Given the description of an element on the screen output the (x, y) to click on. 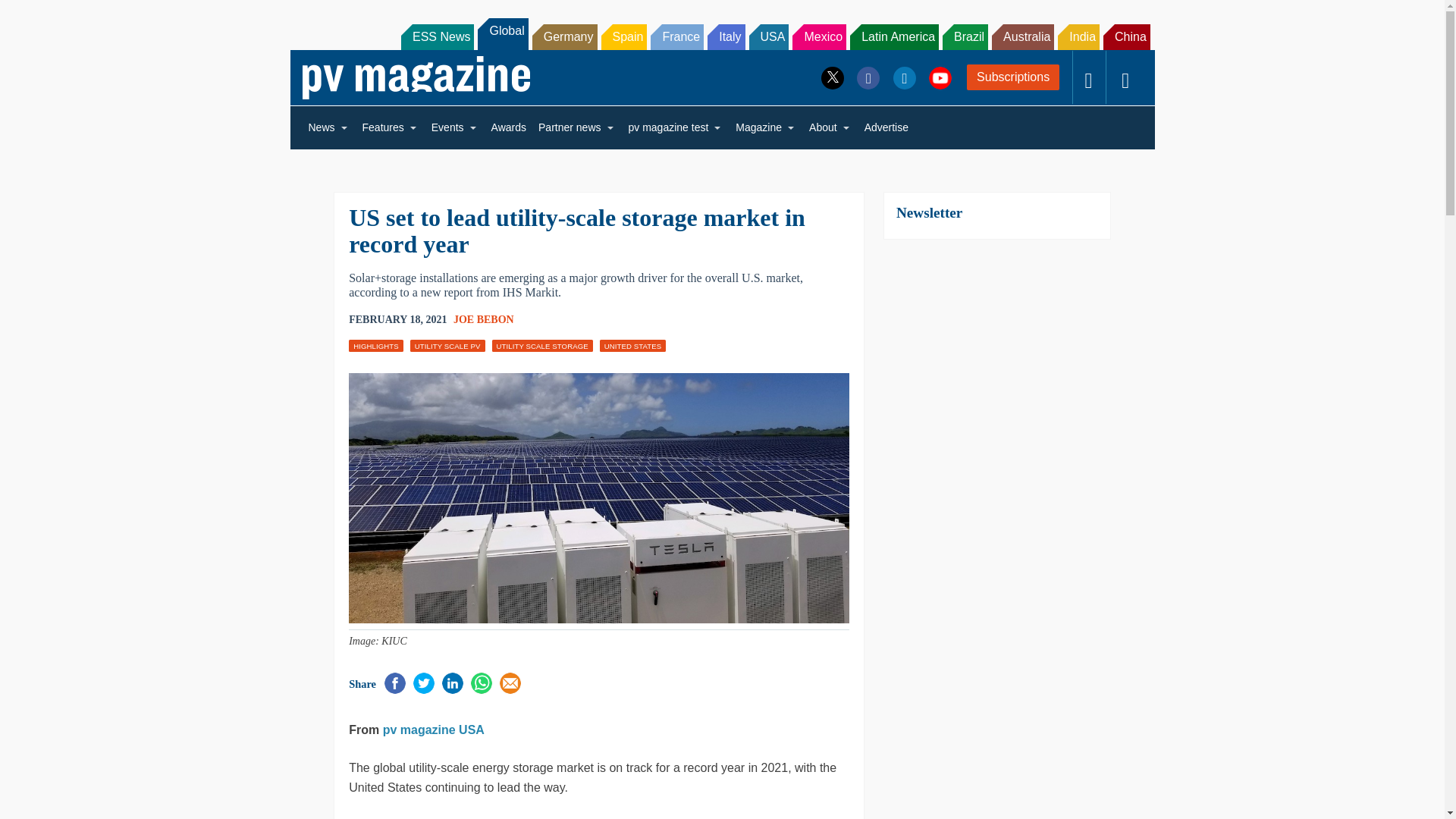
Latin America (894, 36)
Brazil (965, 36)
Search (32, 15)
Thursday, February 18, 2021, 6:58 am (397, 320)
Germany (564, 36)
France (676, 36)
Australia (1022, 36)
Italy (725, 36)
USA (769, 36)
Mexico (818, 36)
